Given the description of an element on the screen output the (x, y) to click on. 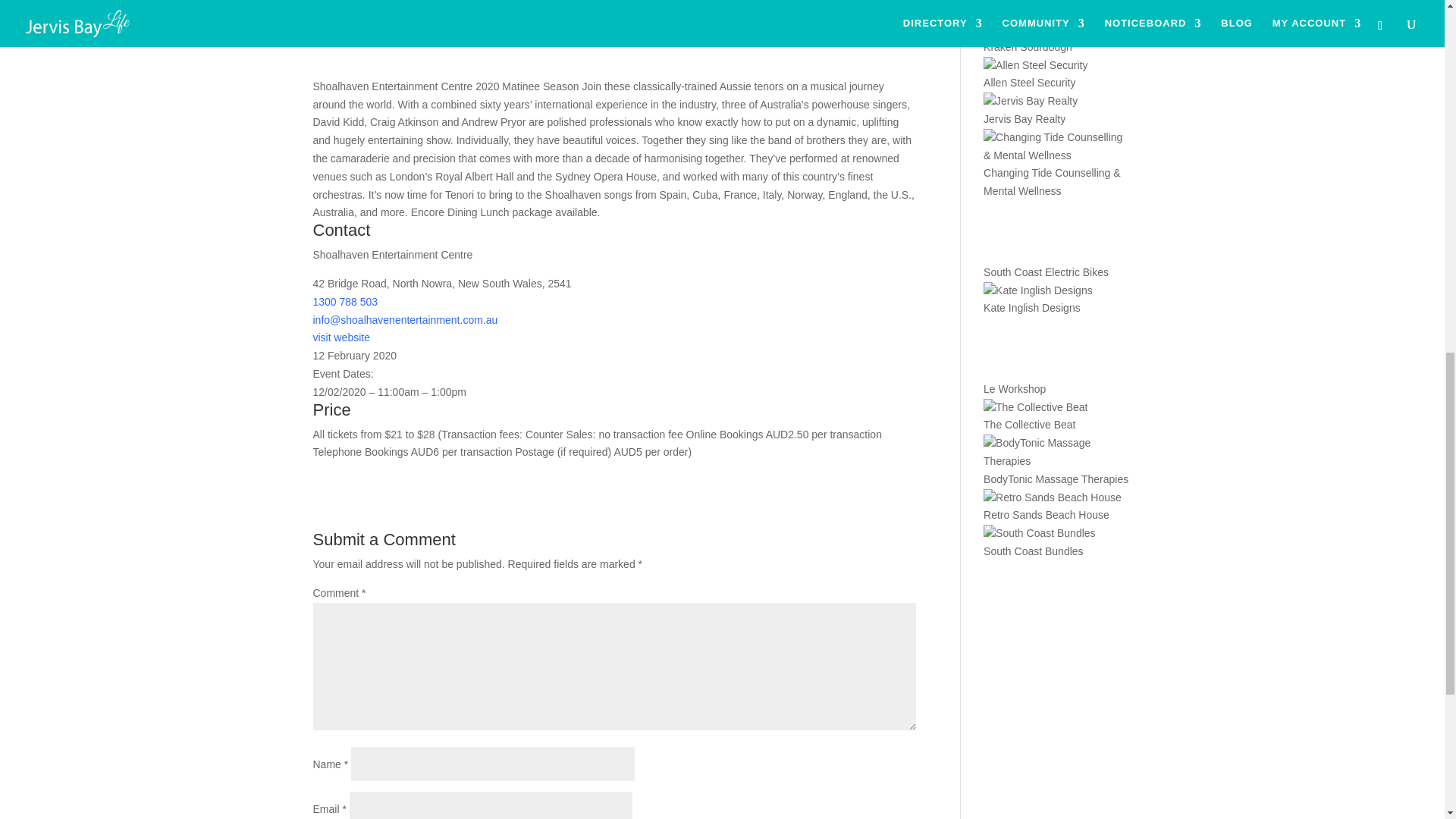
visit website (341, 337)
1300 788 503 (345, 301)
Kraken Sourdough (1027, 46)
